Given the description of an element on the screen output the (x, y) to click on. 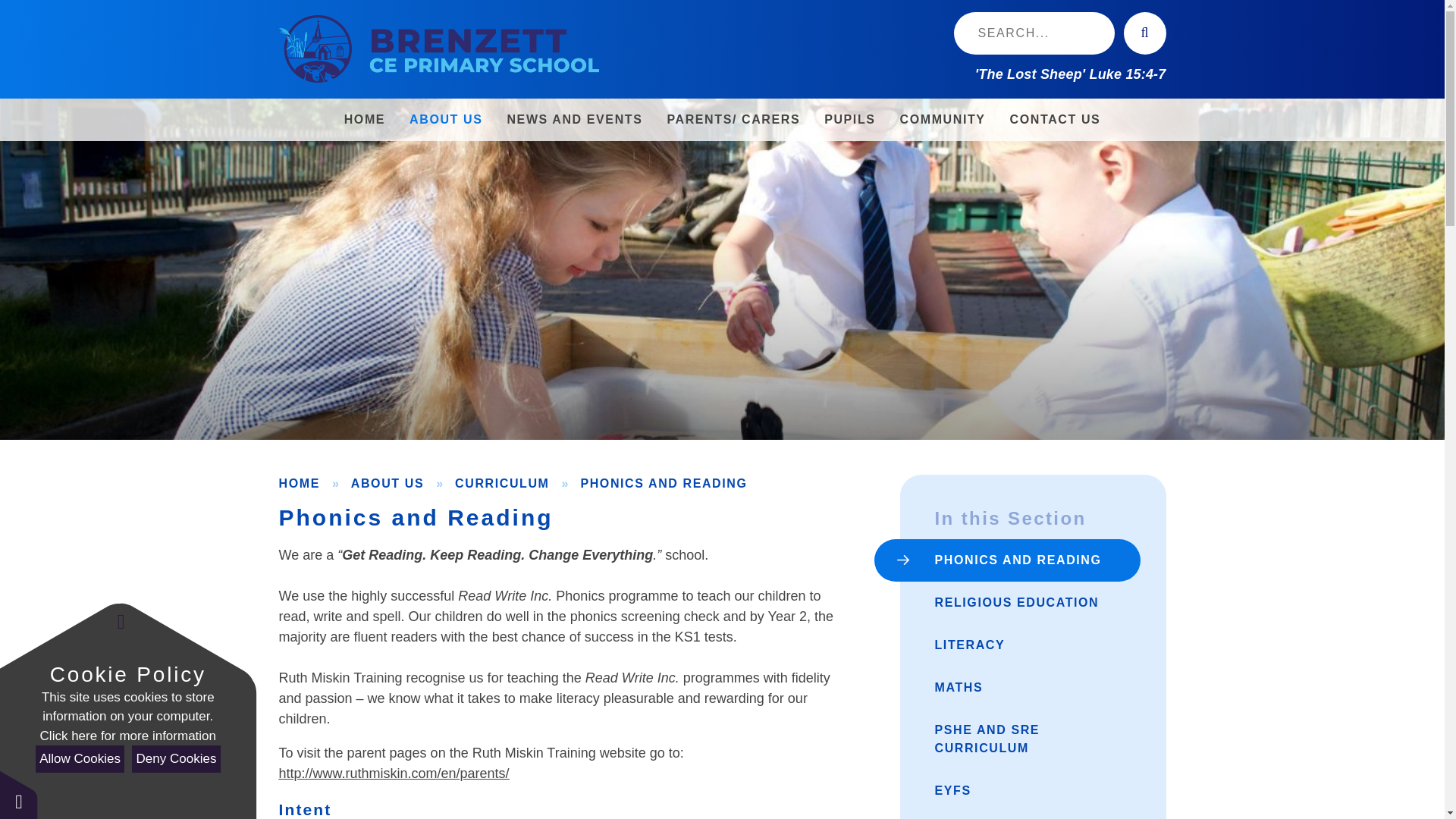
See cookie policy (127, 736)
HOME (364, 119)
Deny Cookies (175, 759)
Allow Cookies (78, 759)
ABOUT US (446, 119)
